Given the description of an element on the screen output the (x, y) to click on. 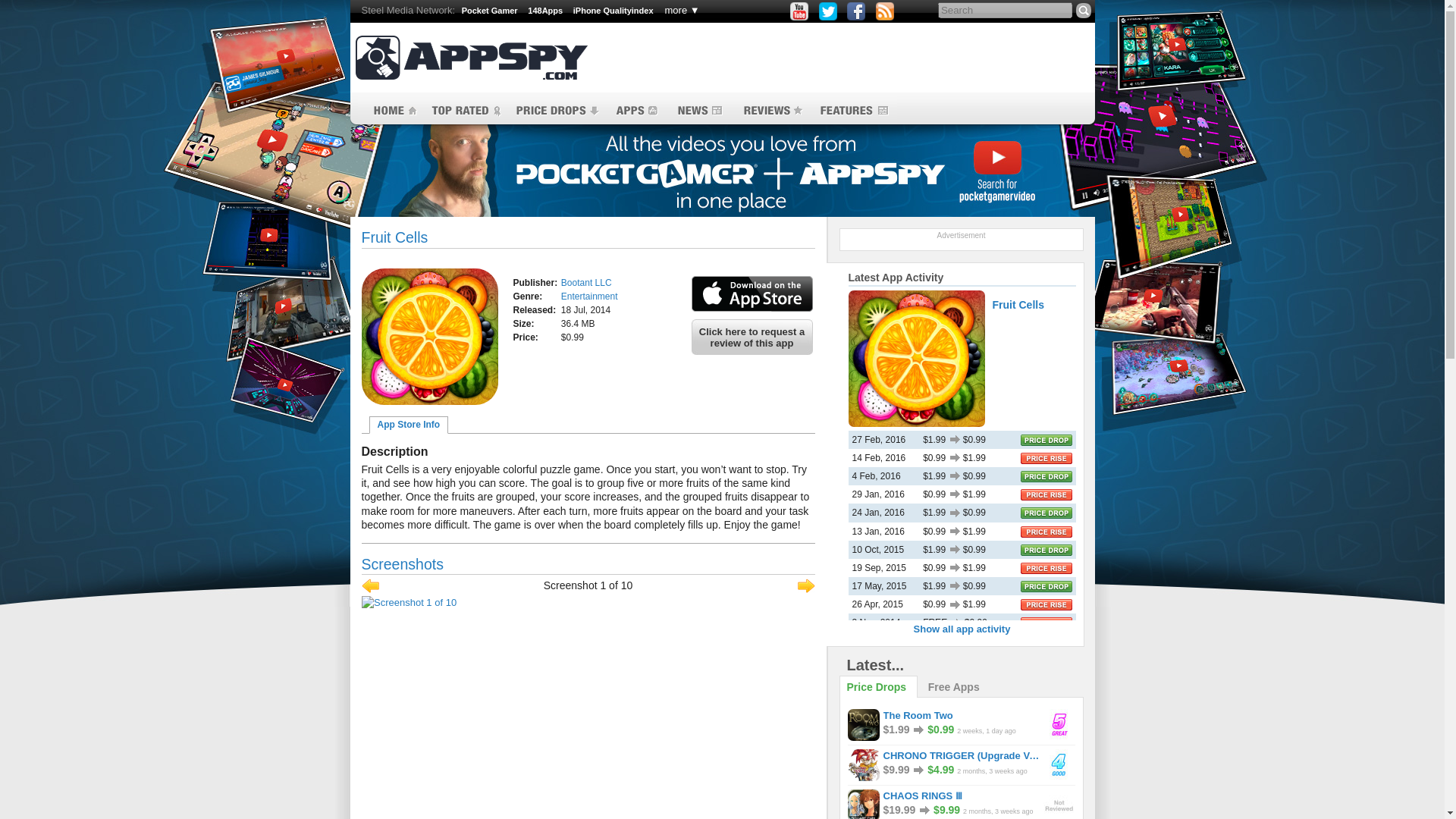
Subscribe to our RSS feeds (884, 11)
News and Updates (698, 110)
Available on the AppStore (751, 293)
Visit our YouTube channel (799, 11)
Features (853, 110)
Follow us on Twitter (827, 11)
Fruit Cells (429, 336)
Top Rated Apps (464, 110)
Pocket Gamer (489, 10)
Apps On Sale (556, 110)
Screenshot 1 of 10 (587, 602)
AppSpy - Track Apps and Save (470, 57)
